Given the description of an element on the screen output the (x, y) to click on. 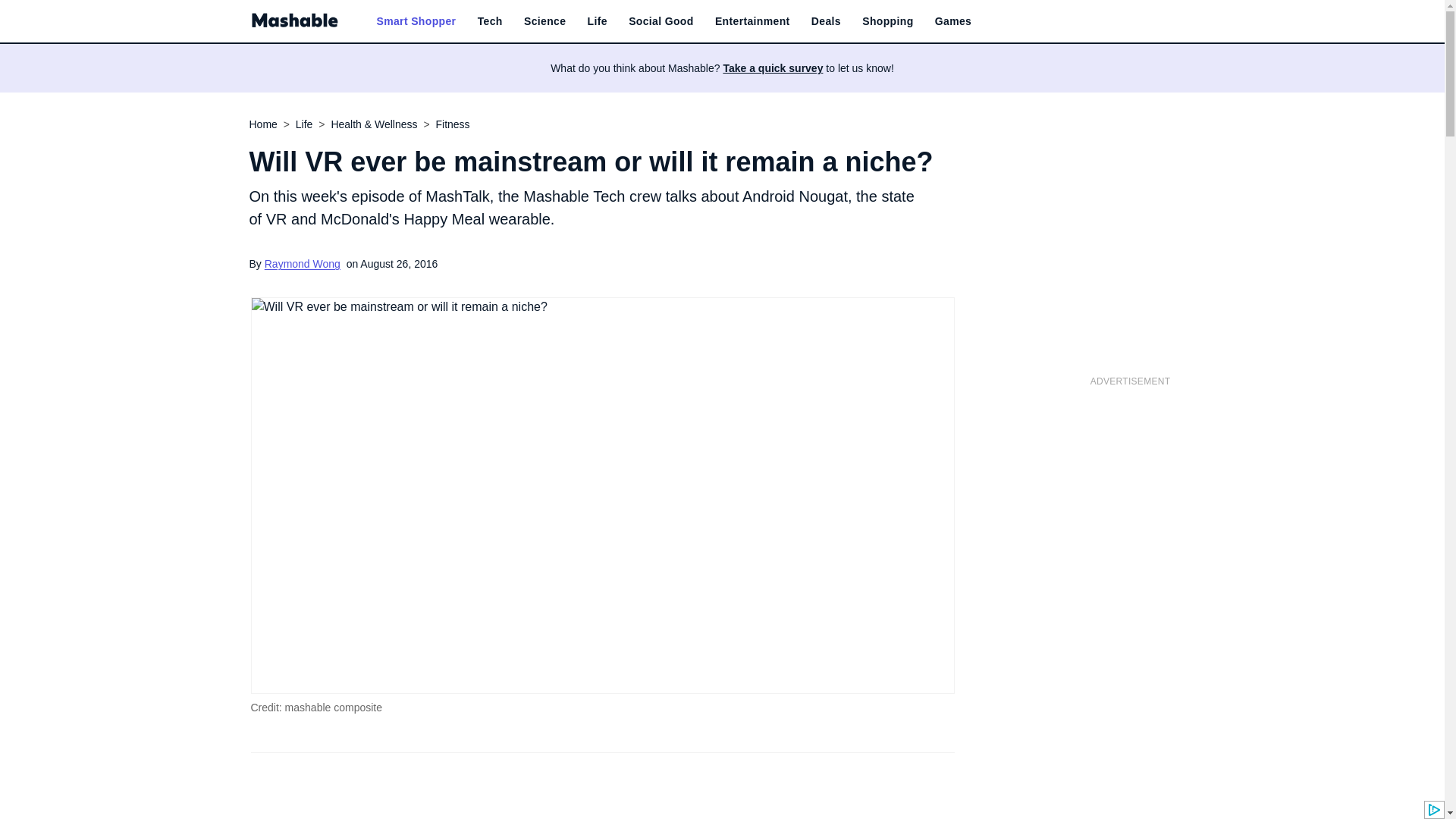
Life (597, 21)
Social Good (661, 21)
Tech (489, 21)
Entertainment (752, 21)
Deals (825, 21)
Smart Shopper (415, 21)
Shopping (886, 21)
Games (952, 21)
Science (545, 21)
